Given the description of an element on the screen output the (x, y) to click on. 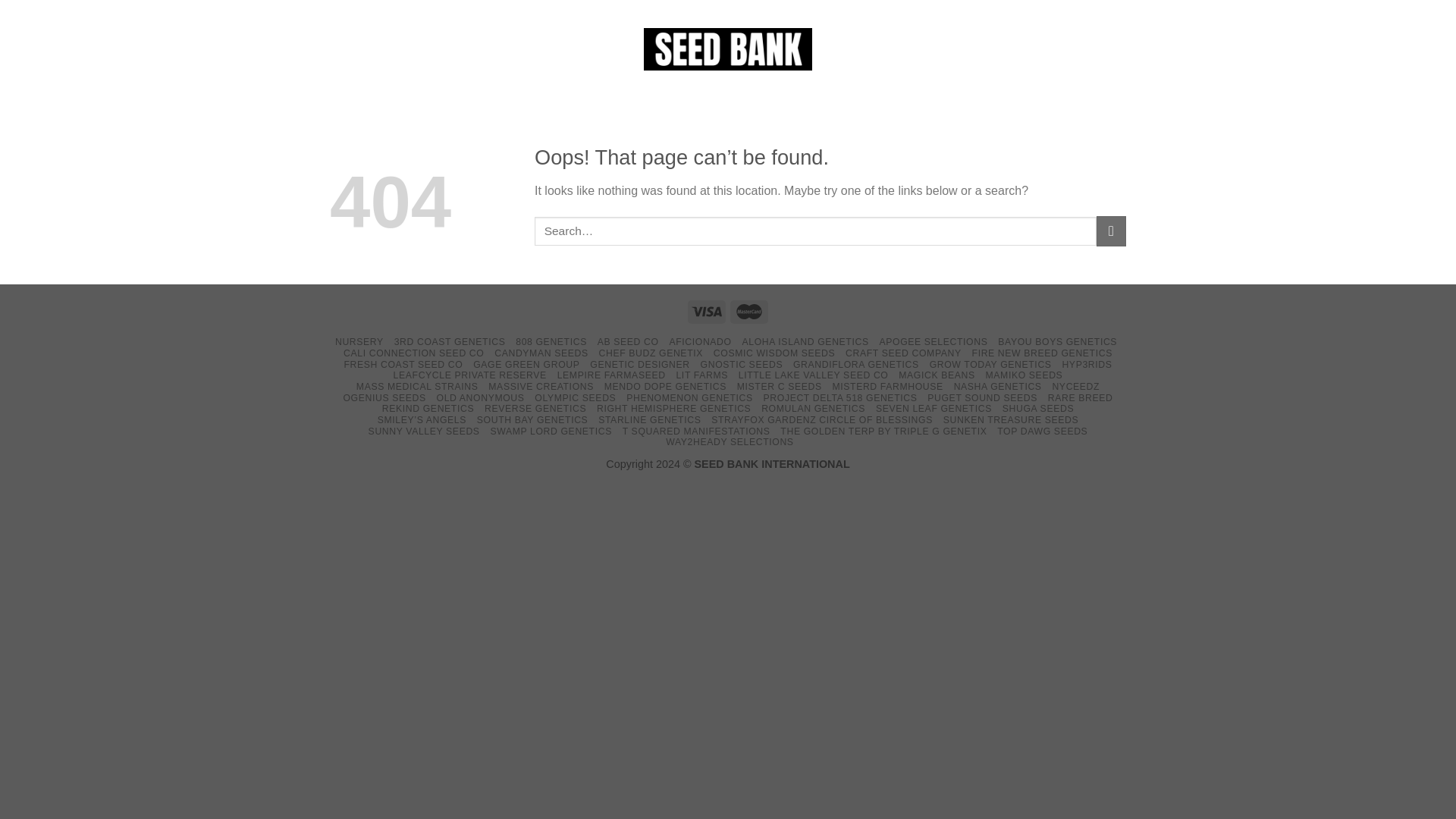
HYP3RIDS (1086, 364)
BAYOU BOYS GENETICS (1056, 341)
Cart (1088, 51)
FRESH COAST SEED CO (403, 364)
AFICIONADO (699, 341)
ALOHA ISLAND GENETICS (804, 341)
3RD COAST GENETICS (449, 341)
808 GENETICS (550, 341)
LIT FARMS (701, 375)
GNOSTIC SEEDS (741, 364)
NURSERY (359, 341)
LITTLE LAKE VALLEY SEED CO (813, 375)
GENETIC DESIGNER (638, 364)
GAGE GREEN GROUP (526, 364)
APOGEE SELECTIONS (933, 341)
